Given the description of an element on the screen output the (x, y) to click on. 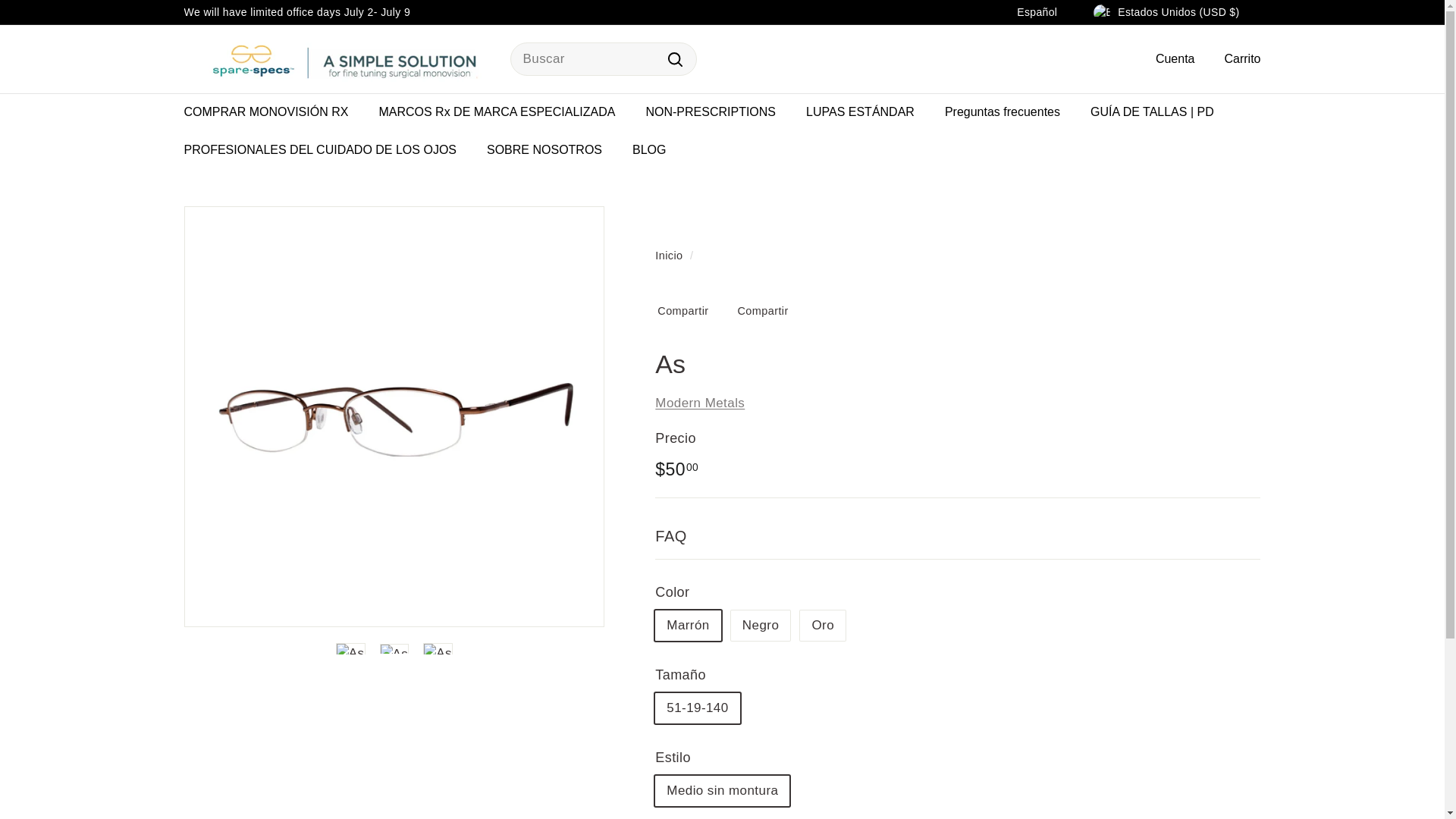
Tuitear en Twitter (767, 311)
Compartir en Facebook (687, 311)
Volver a la portada (668, 255)
